Given the description of an element on the screen output the (x, y) to click on. 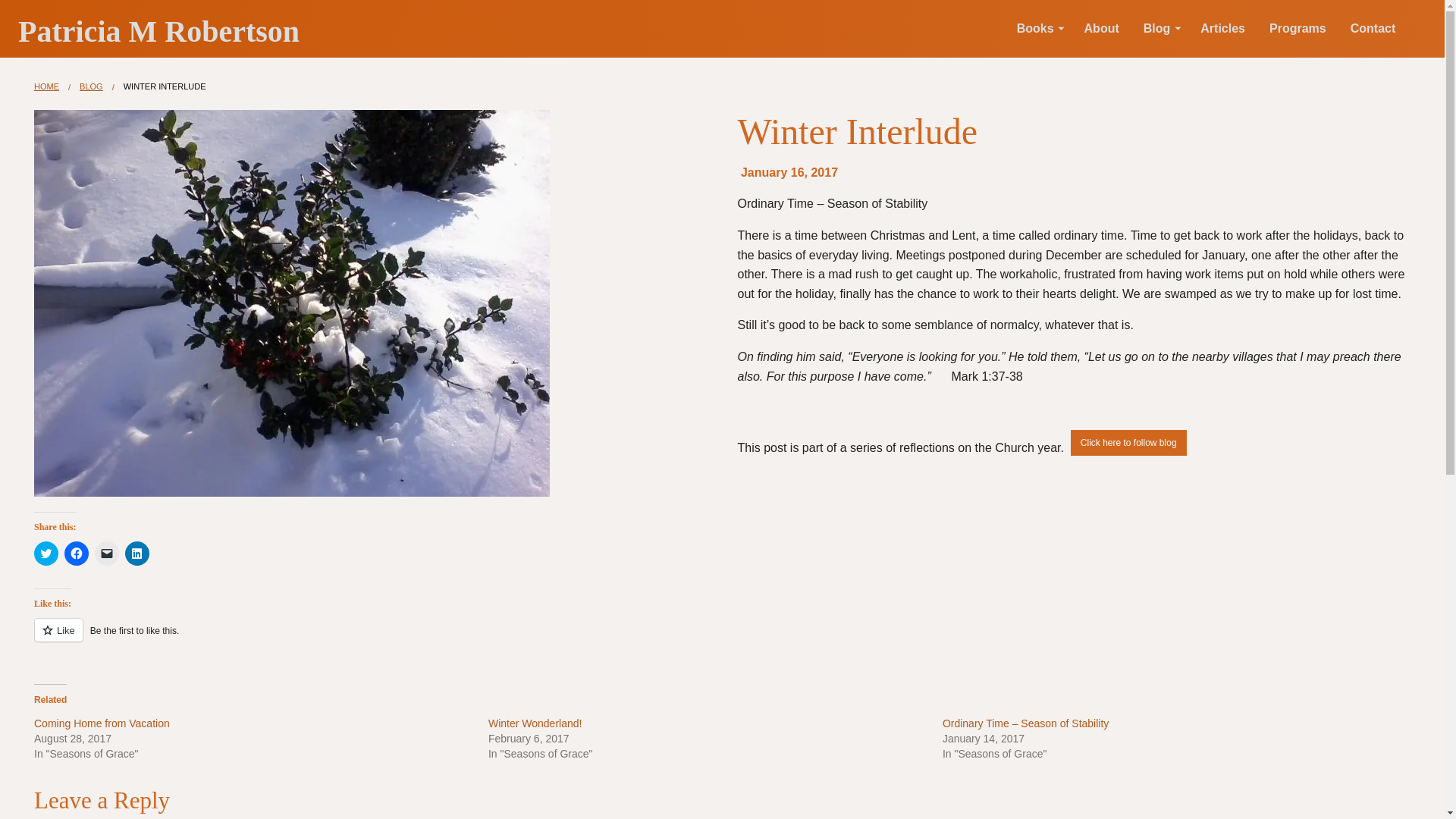
Like or Reblog (721, 639)
Blog (1160, 28)
Articles (1222, 28)
Patricia M Robertson (158, 30)
Programs (1297, 28)
Click to email a link to a friend (106, 553)
Click to share on Twitter (45, 553)
Winter Wonderland! (533, 723)
Click to share on LinkedIn (137, 553)
Click to share on Facebook (76, 553)
About (1101, 28)
HOME (46, 85)
Coming Home from Vacation  (103, 723)
Contact (1372, 28)
